Given the description of an element on the screen output the (x, y) to click on. 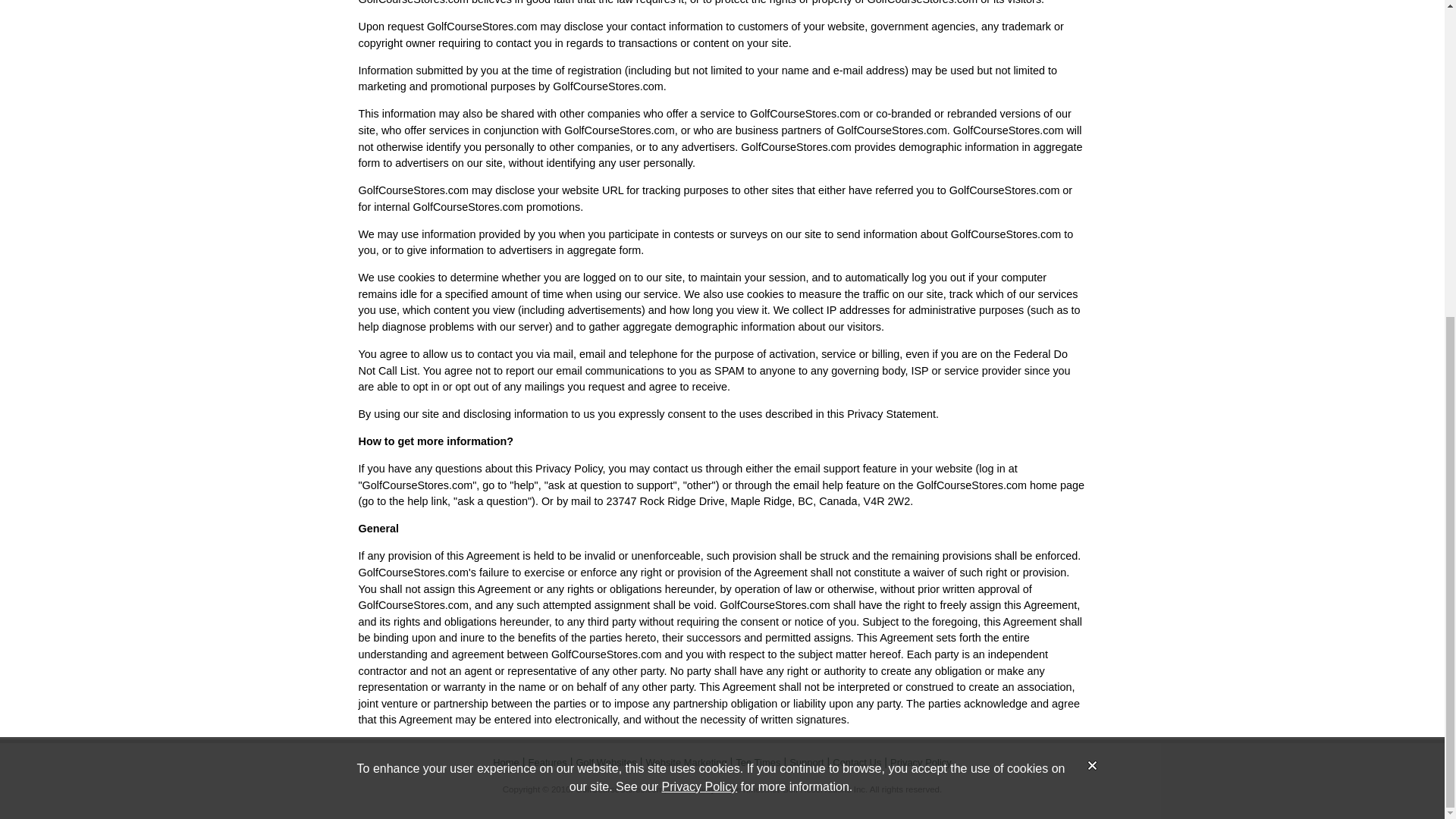
Golf Websites (605, 762)
Privacy Policy (920, 762)
Tee Times (757, 762)
Home (506, 762)
Privacy Policy (700, 275)
Support (806, 762)
Features (547, 762)
Website Marketing (686, 762)
Contact Us (856, 762)
